Given the description of an element on the screen output the (x, y) to click on. 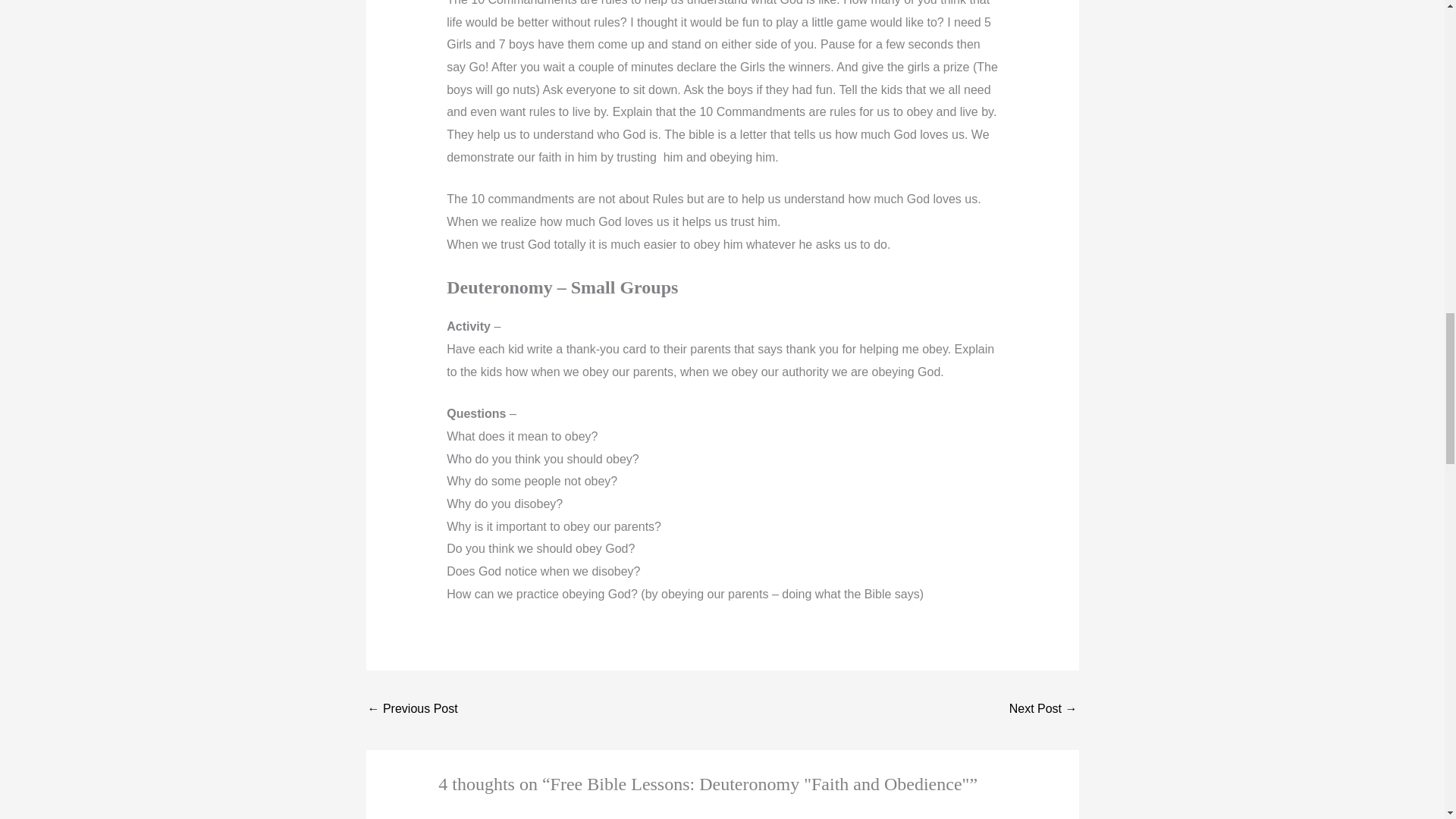
A word from our sponsers: Jonathan Martin Creative. (1043, 709)
I Love NY (411, 709)
